Given the description of an element on the screen output the (x, y) to click on. 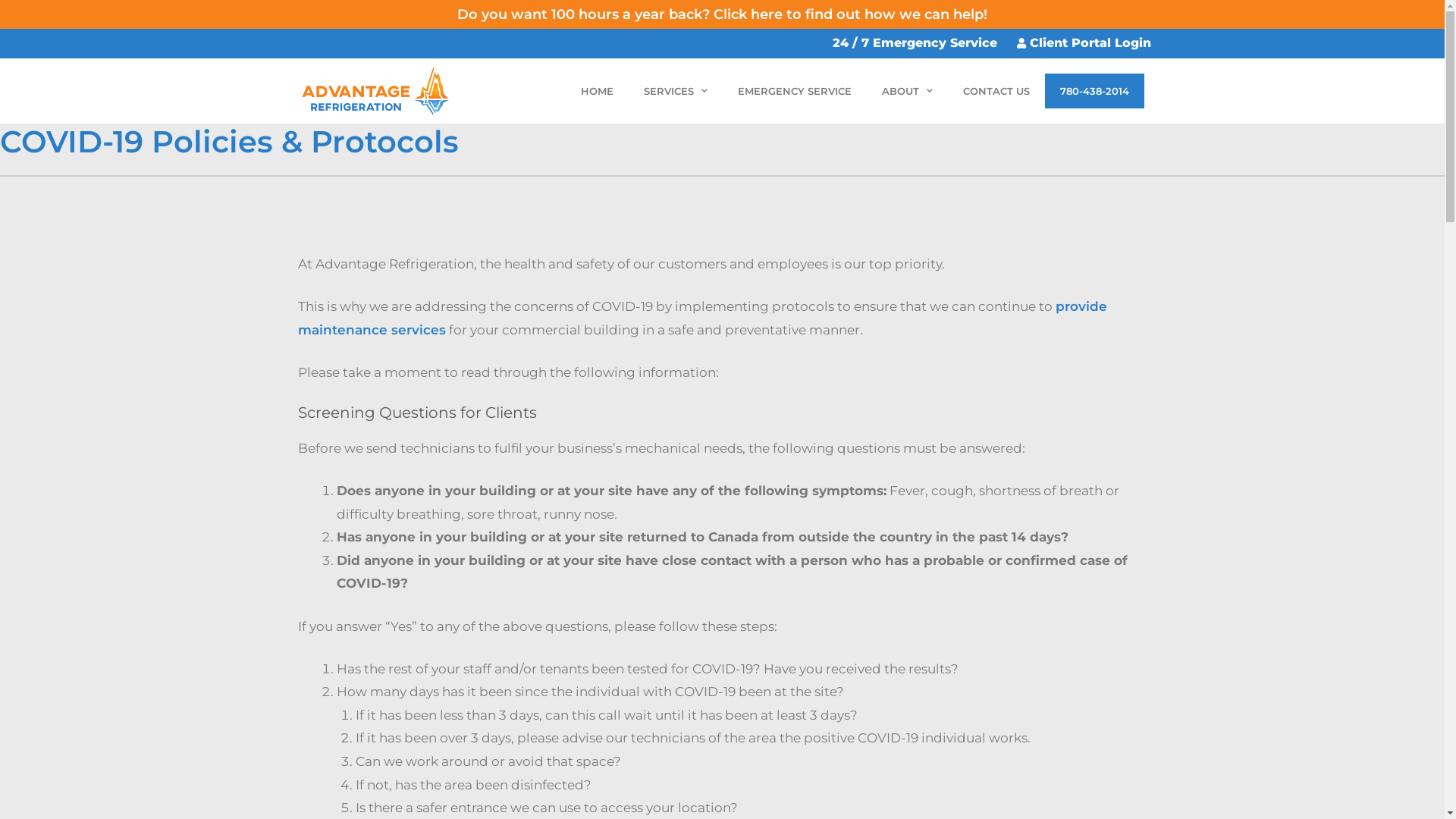
780-438-2014 Element type: text (1094, 90)
provide maintenance services Element type: text (701, 317)
ABOUT Element type: text (906, 90)
SERVICES Element type: text (675, 90)
HOME Element type: text (596, 90)
Client Portal Login Element type: text (1081, 43)
CONTACT US Element type: text (995, 90)
EMERGENCY SERVICE Element type: text (794, 90)
